Given the description of an element on the screen output the (x, y) to click on. 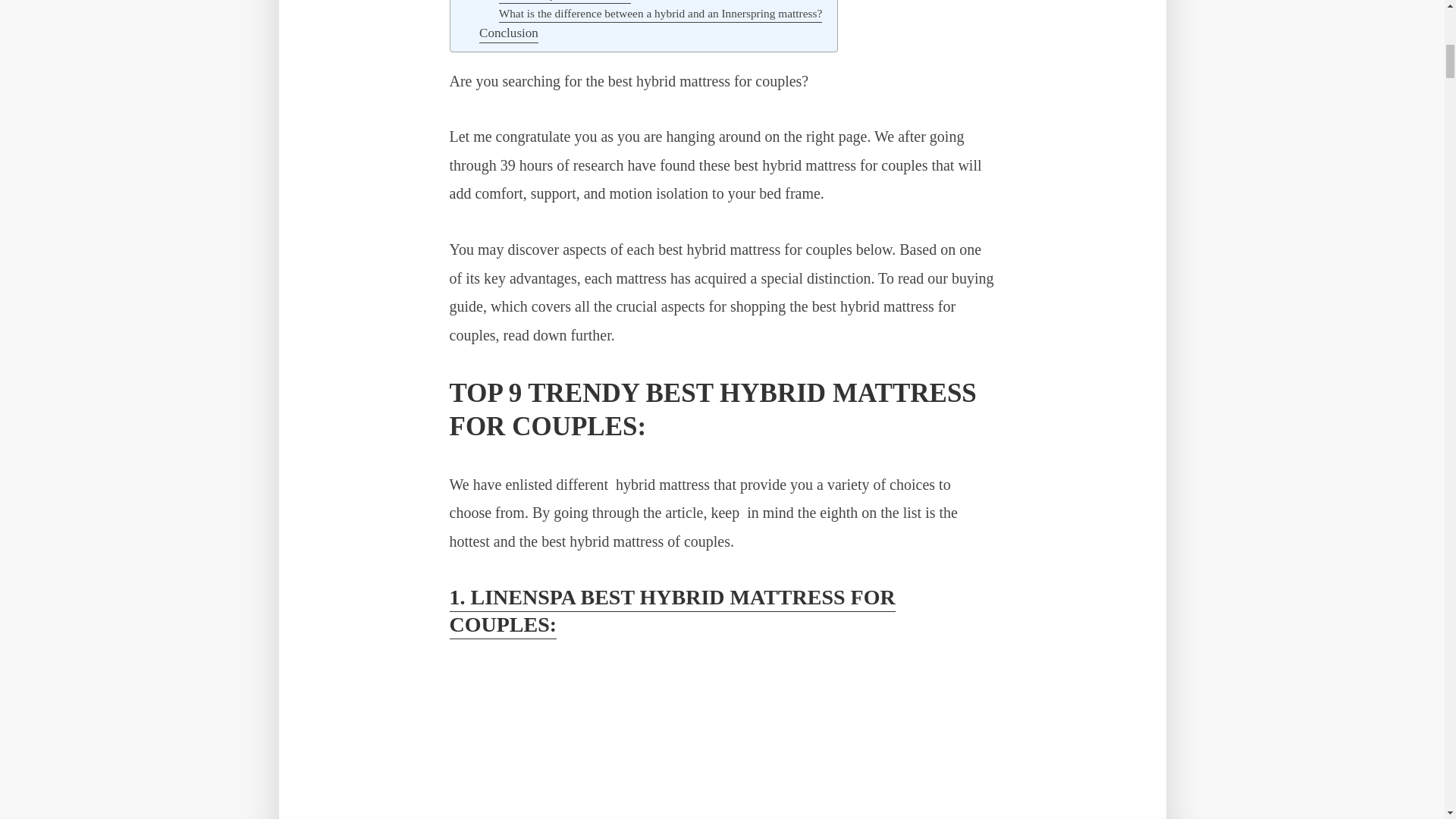
Conclusion (508, 34)
What are hybrid mattresses? (565, 2)
